Given the description of an element on the screen output the (x, y) to click on. 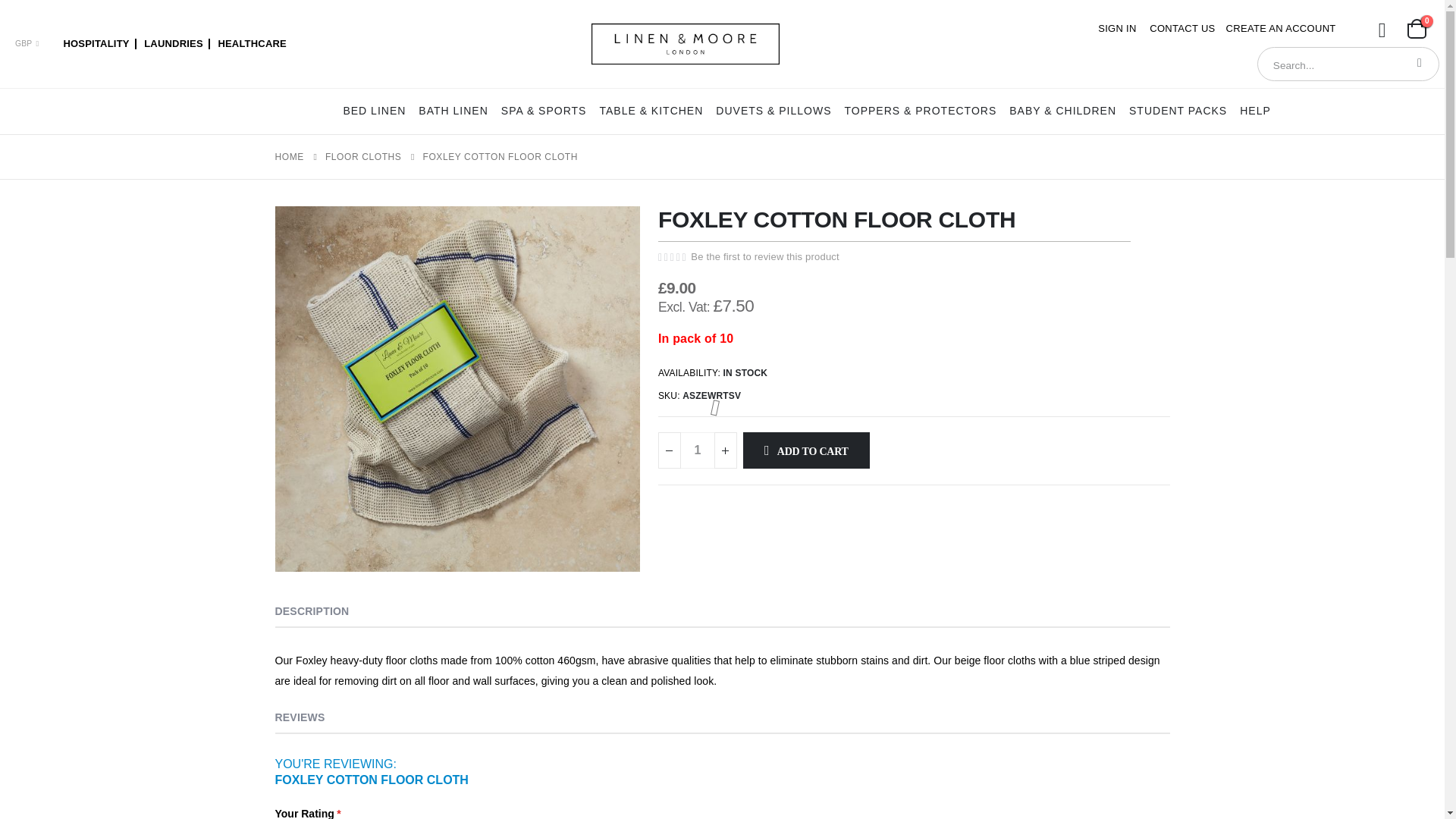
1 (697, 450)
SIGN IN (1117, 28)
CONTACT US (1182, 28)
Wishlist (1382, 36)
CREATE AN ACCOUNT (1280, 28)
 Bed Linen (373, 111)
Search (1419, 62)
LAUNDRIES (173, 43)
HOSPITALITY (95, 43)
HEALTHCARE (252, 43)
